Given the description of an element on the screen output the (x, y) to click on. 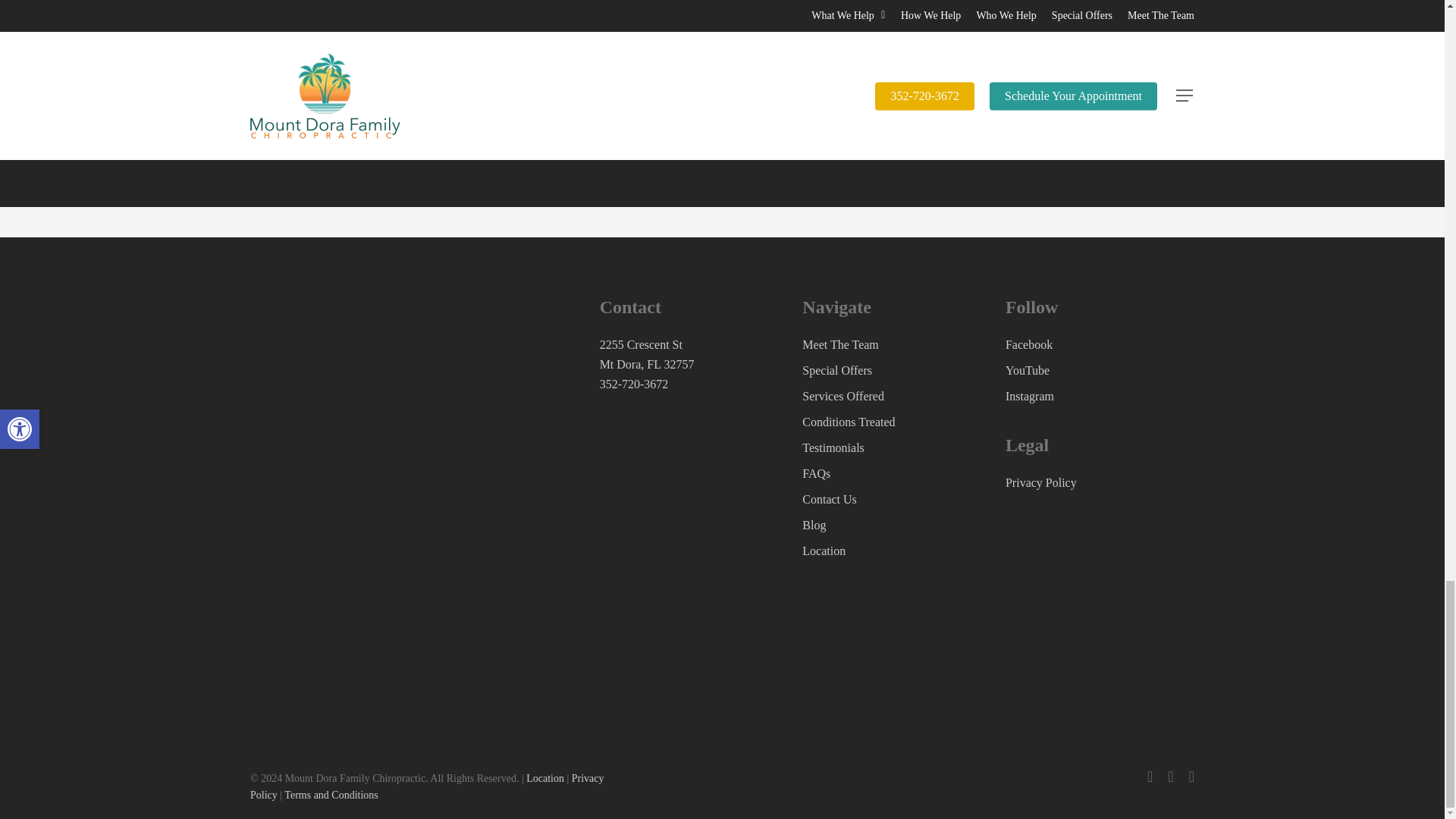
Find me on Upper Cervical Care (325, 632)
352-720-3672 (633, 383)
